Given the description of an element on the screen output the (x, y) to click on. 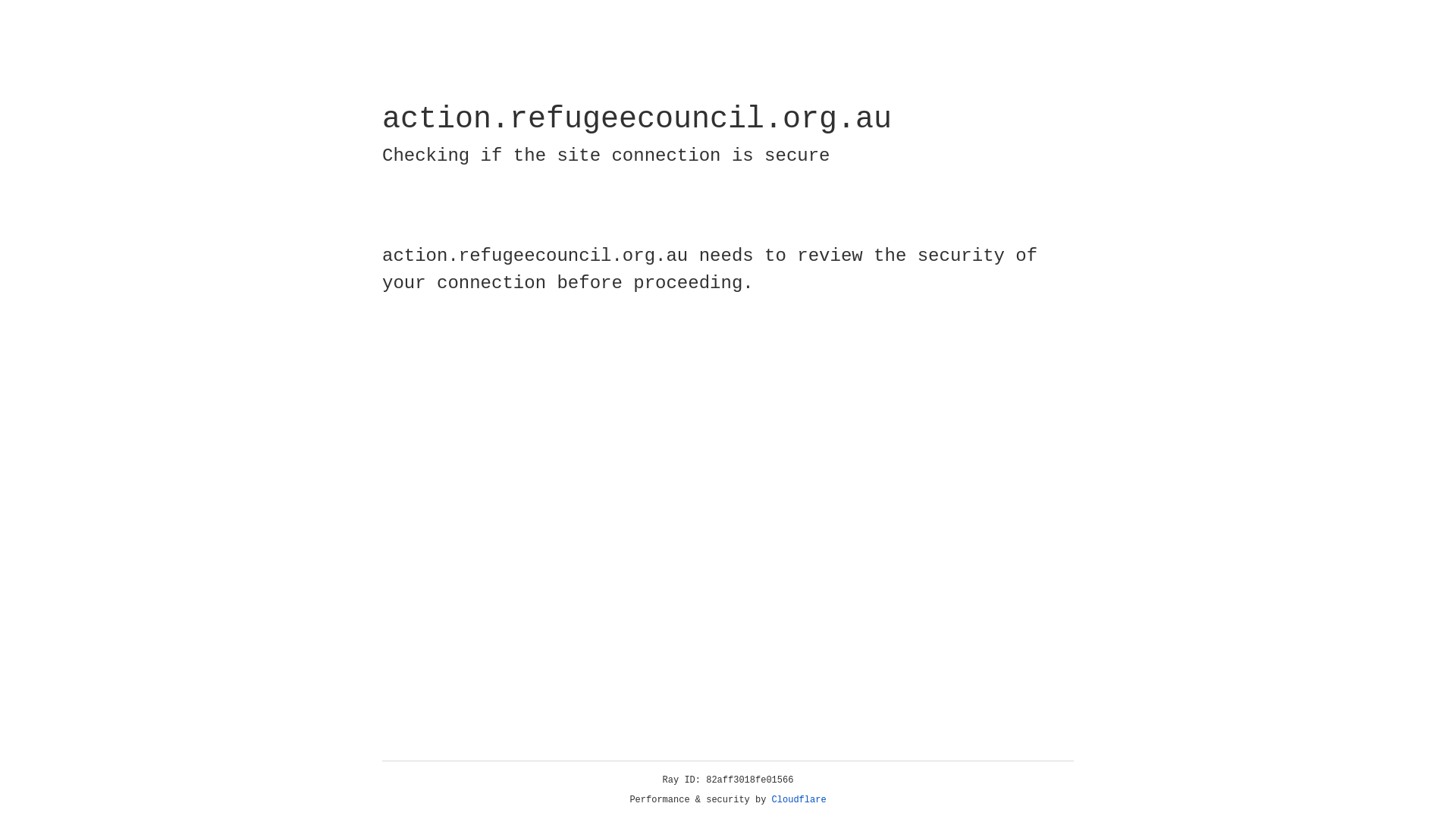
Cloudflare Element type: text (798, 799)
